Given the description of an element on the screen output the (x, y) to click on. 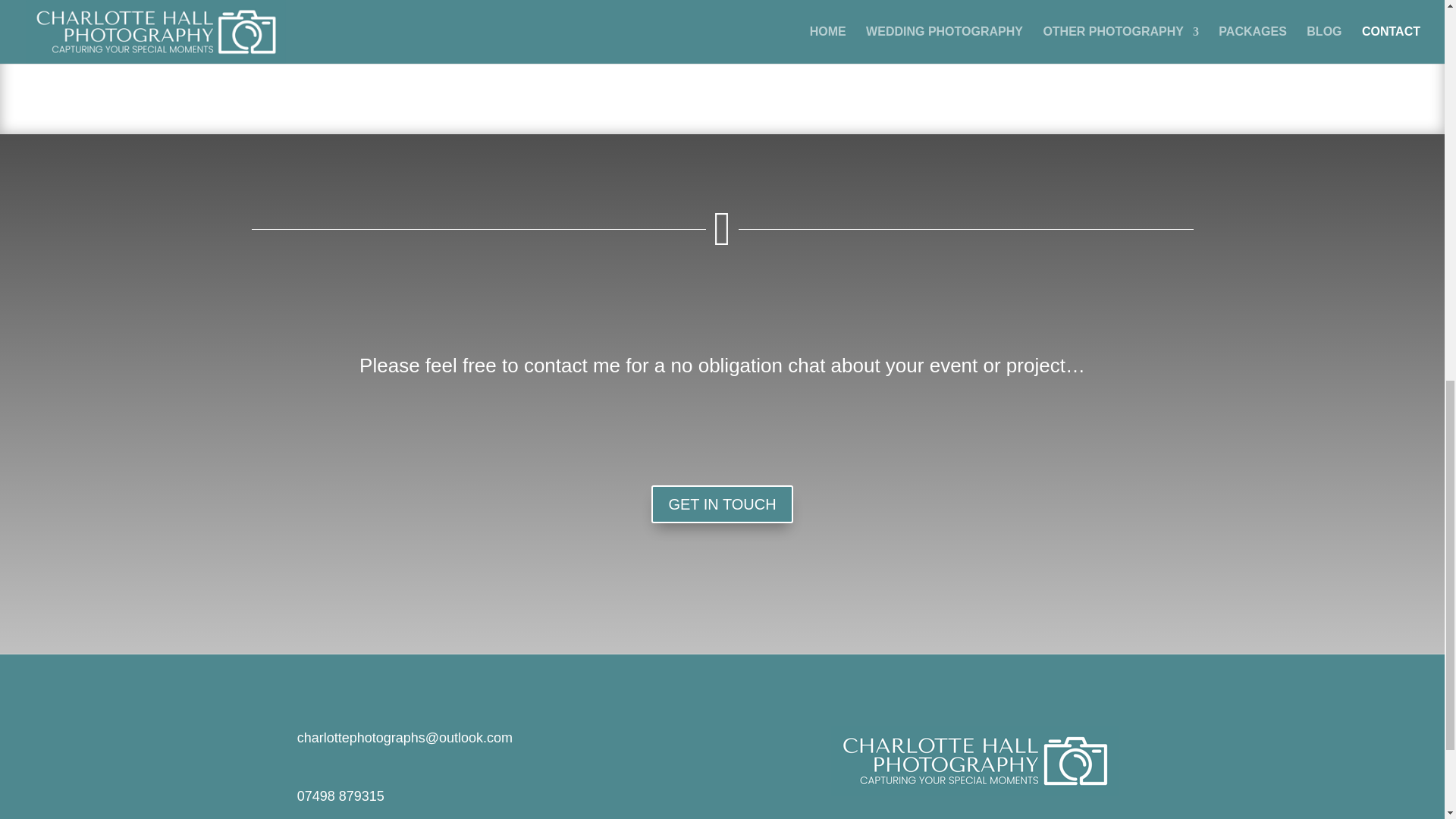
Submit (1159, 44)
logo-png-for-site (974, 760)
GET IN TOUCH (721, 504)
